Given the description of an element on the screen output the (x, y) to click on. 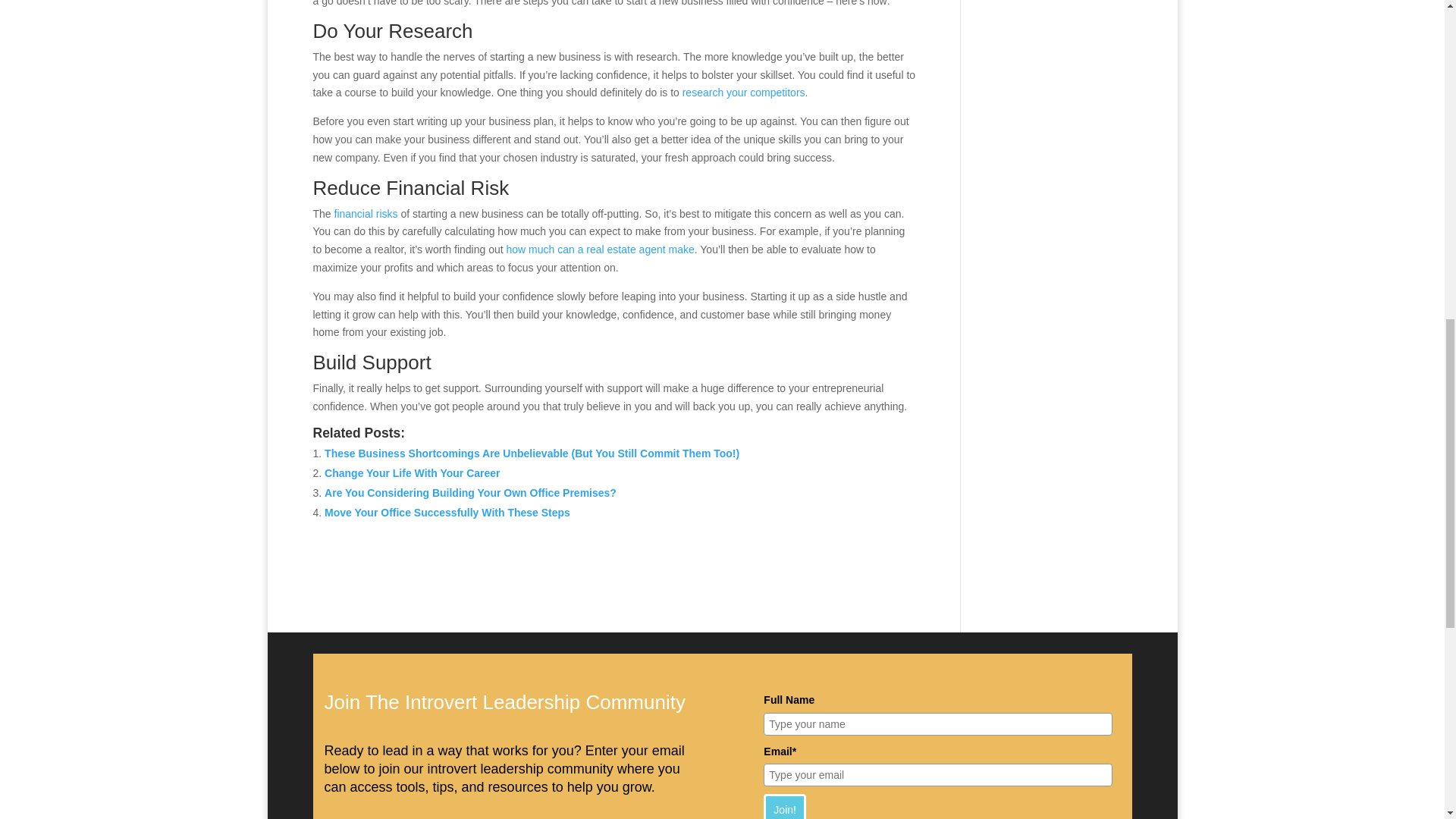
Are You Considering Building Your Own Office Premises? (469, 492)
Change Your Life With Your Career (411, 472)
Join! (784, 806)
research your competitors (743, 92)
Are You Considering Building Your Own Office Premises? (469, 492)
financial risks (367, 214)
how much can a real estate agent make (600, 249)
Move Your Office Successfully With These Steps (447, 512)
Change Your Life With Your Career (411, 472)
Move Your Office Successfully With These Steps (447, 512)
